Given the description of an element on the screen output the (x, y) to click on. 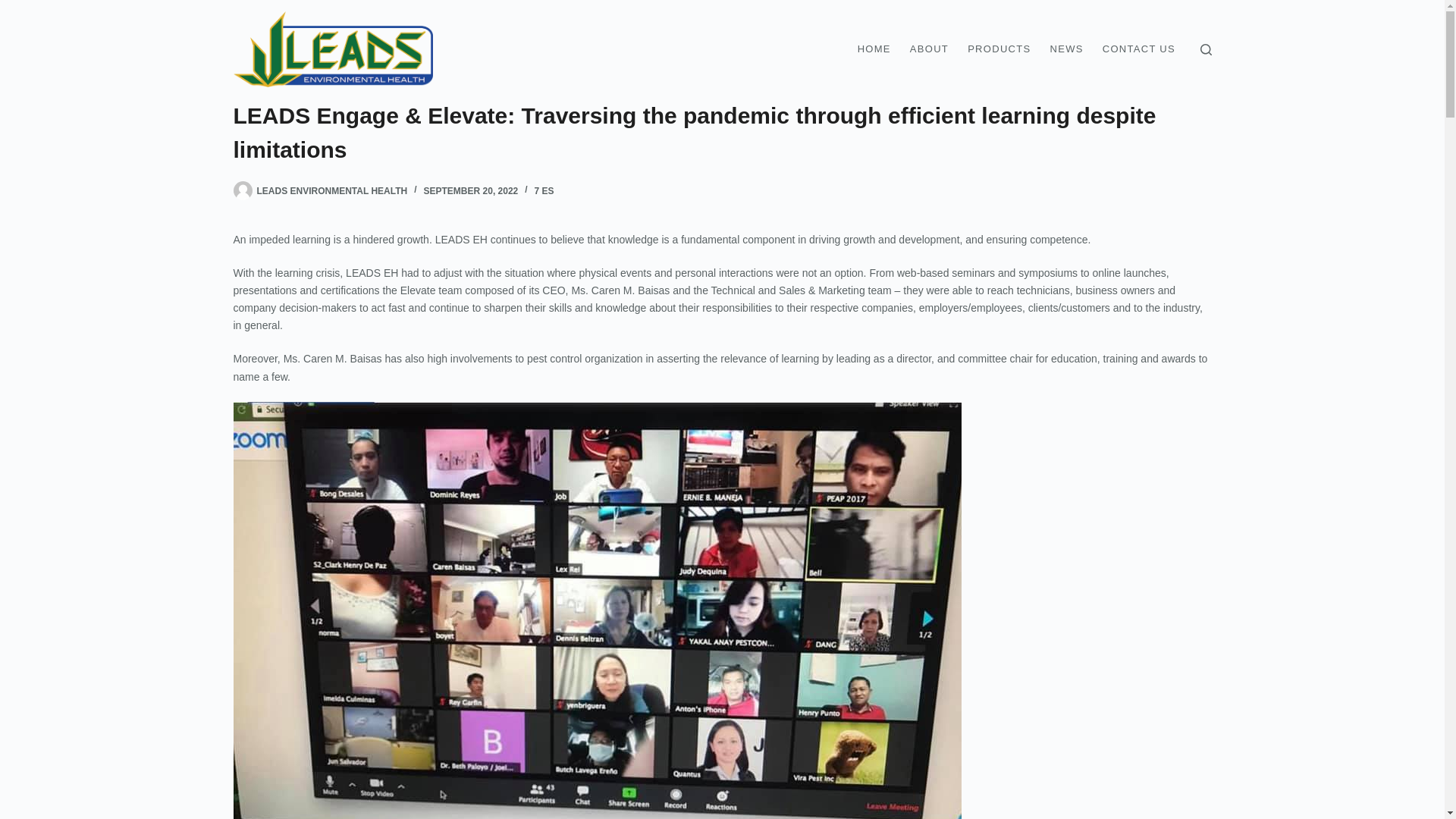
LEADS ENVIRONMENTAL HEALTH (331, 190)
Skip to content (15, 7)
7 ES (544, 190)
Posts by LEADS Environmental Health (331, 190)
CONTACT US (1139, 49)
